Given the description of an element on the screen output the (x, y) to click on. 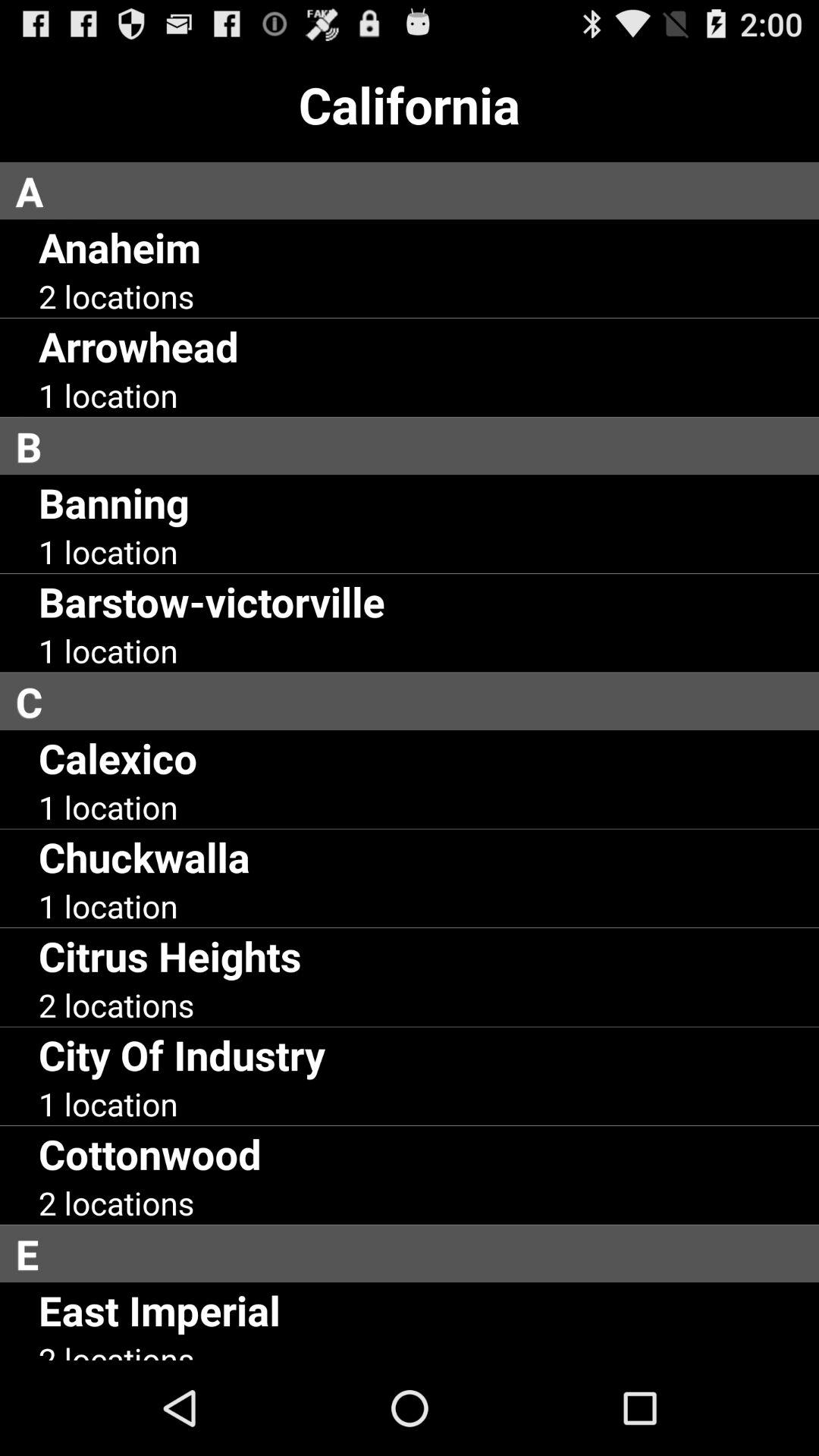
choose e at the bottom (417, 1253)
